Given the description of an element on the screen output the (x, y) to click on. 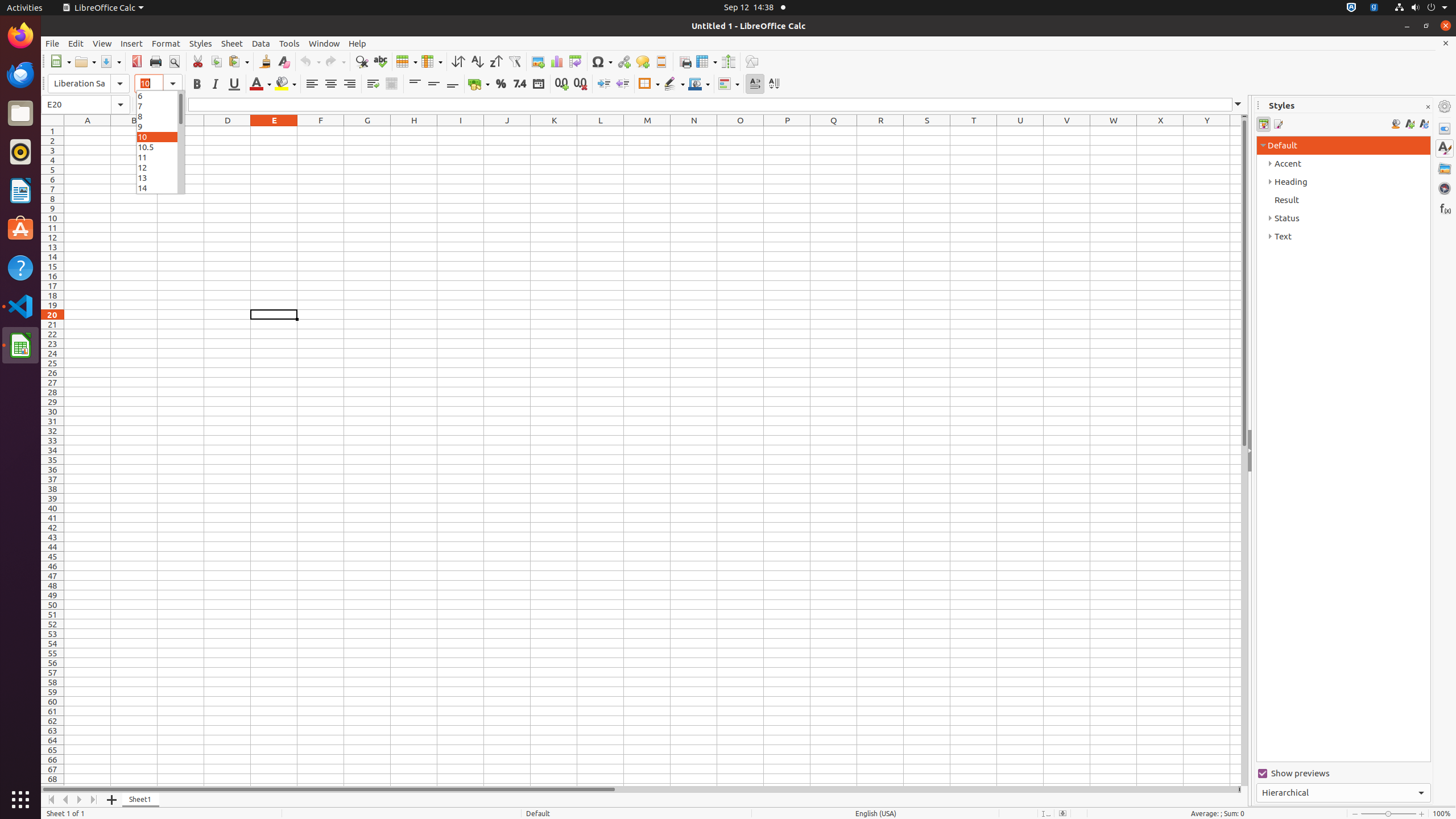
Update Style Element type: push-button (1423, 123)
R1 Element type: table-cell (880, 130)
Borders (Shift to overwrite) Element type: push-button (648, 83)
Add Decimal Place Element type: push-button (561, 83)
Draw Functions Element type: toggle-button (751, 61)
